Given the description of an element on the screen output the (x, y) to click on. 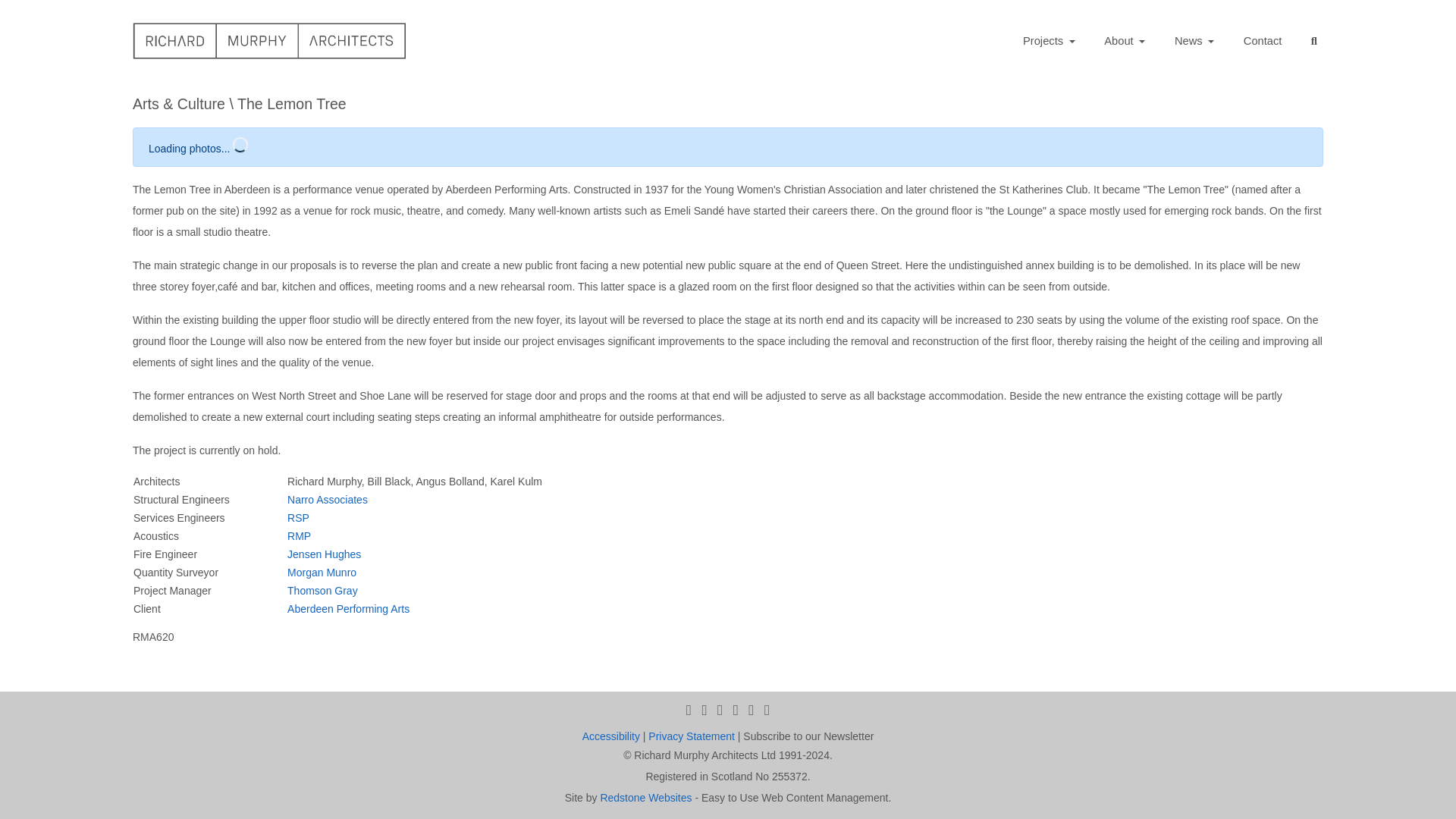
Thomson Gray (322, 589)
RMP (298, 535)
RSP (297, 517)
Accept (1402, 791)
Aberdeen Performing Arts  (349, 607)
Learn more... (490, 791)
Jensen Hughes (323, 553)
Contact (1262, 40)
Morgan Munro (321, 571)
News (1195, 40)
